Given the description of an element on the screen output the (x, y) to click on. 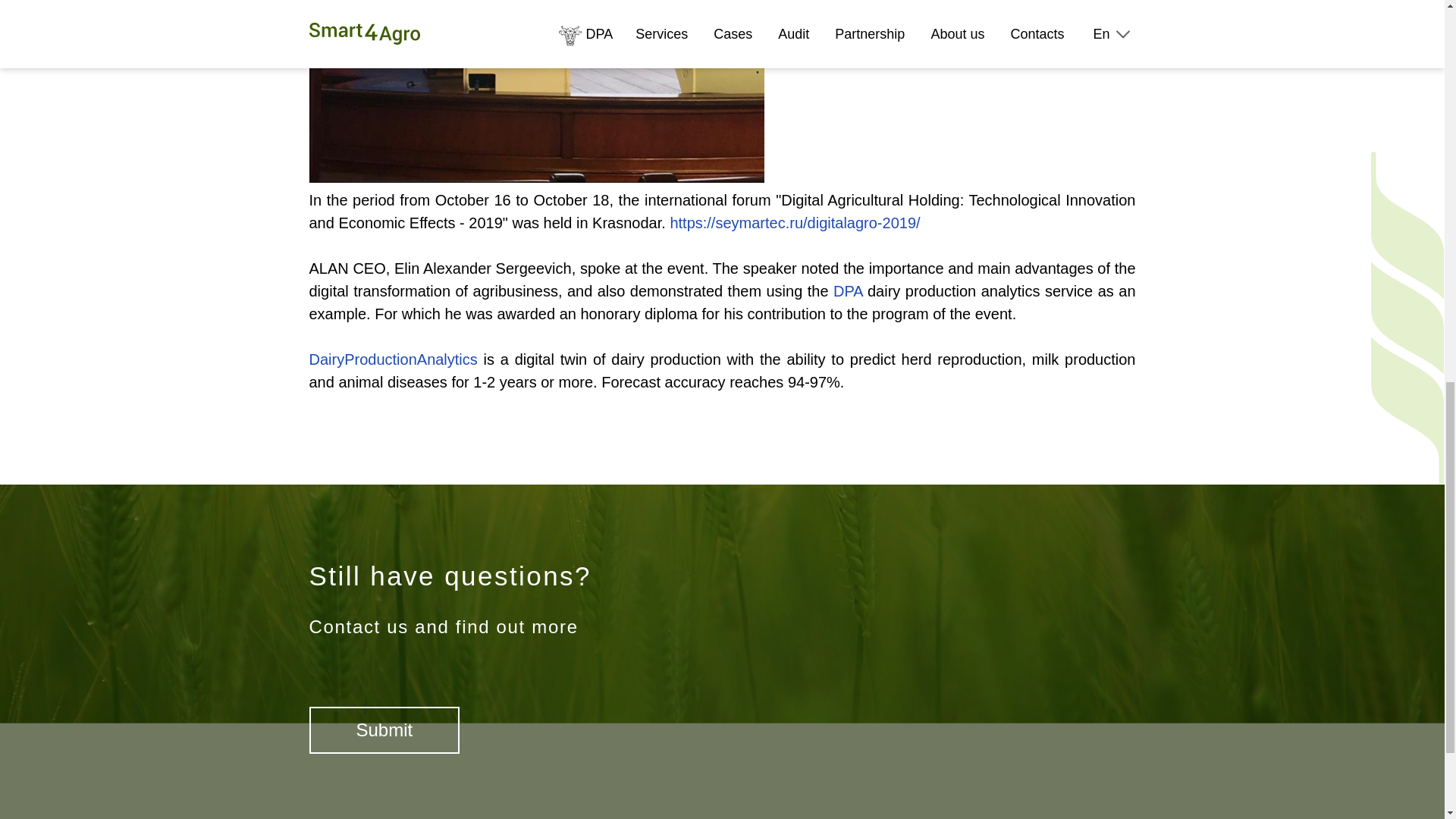
DPA (847, 290)
DairyProductionAnalytics (392, 359)
Submit (384, 729)
